Given the description of an element on the screen output the (x, y) to click on. 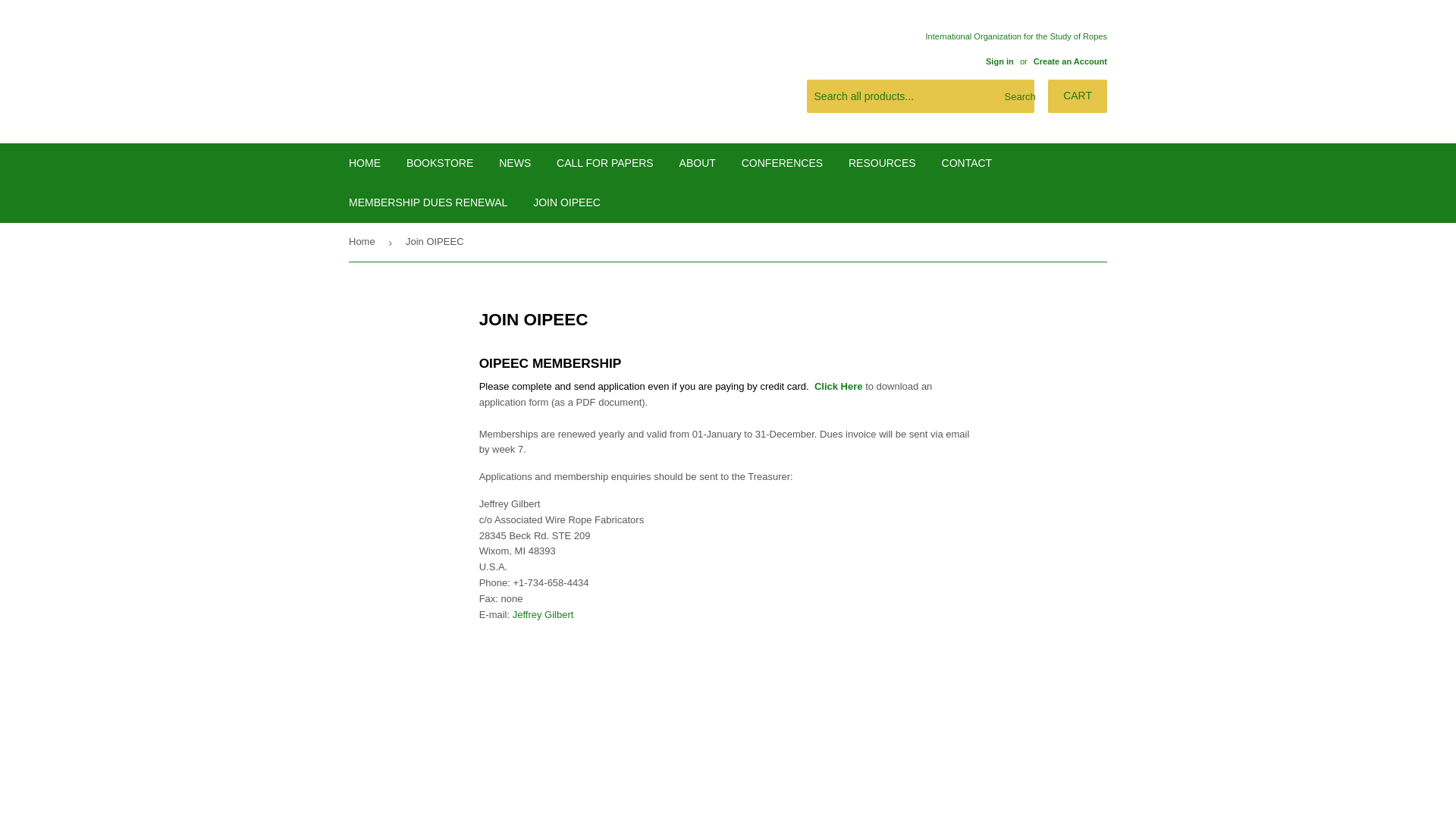
Search (1016, 97)
HOME (364, 162)
Create an Account (1069, 60)
Sign in (999, 60)
CART (1077, 96)
